Given the description of an element on the screen output the (x, y) to click on. 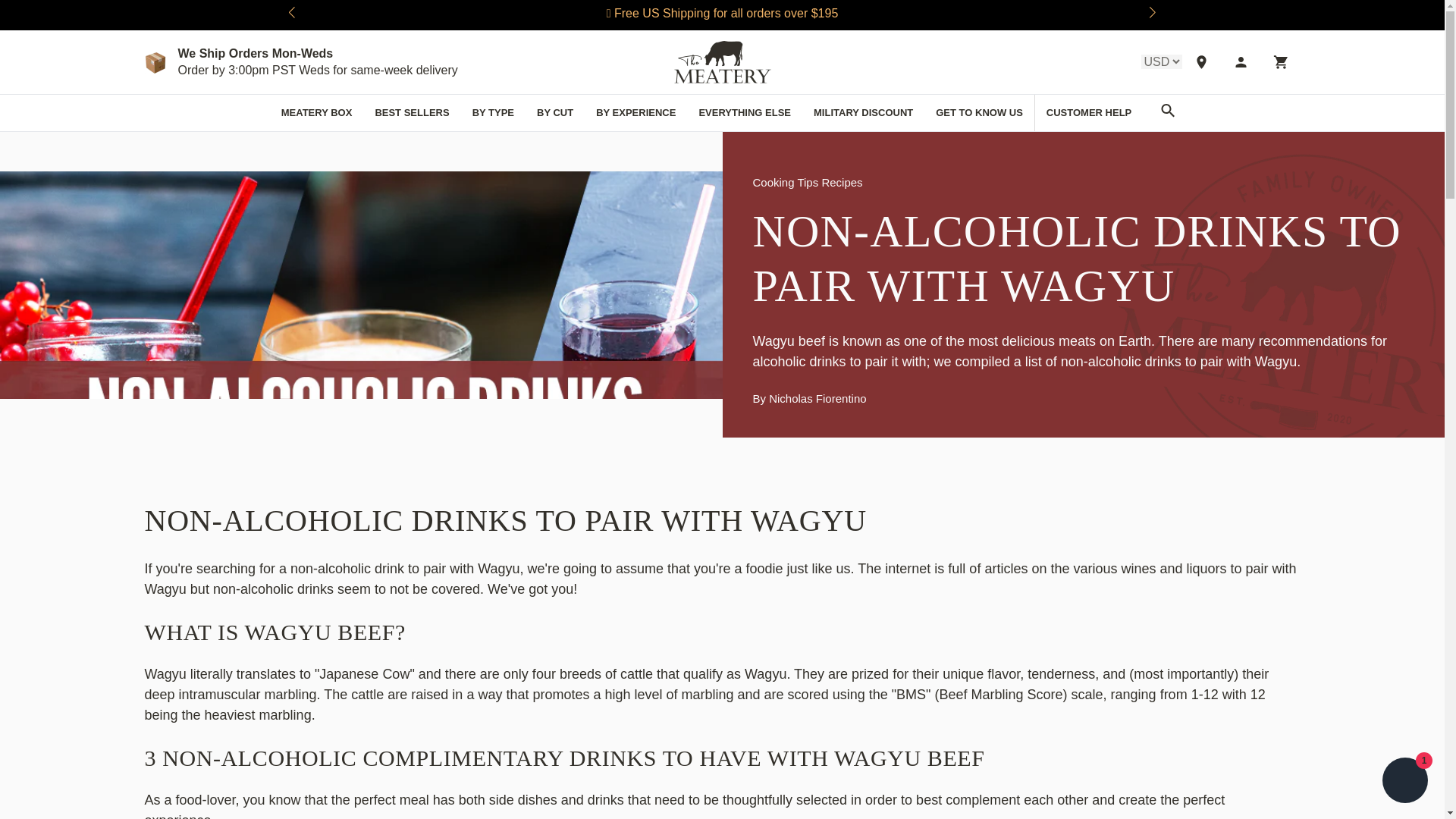
MEATERY BOX (316, 113)
BEST SELLERS (411, 113)
BY EXPERIENCE (636, 113)
BY CUT (555, 113)
Shopify online store chat (1404, 781)
BY TYPE (493, 113)
